Given the description of an element on the screen output the (x, y) to click on. 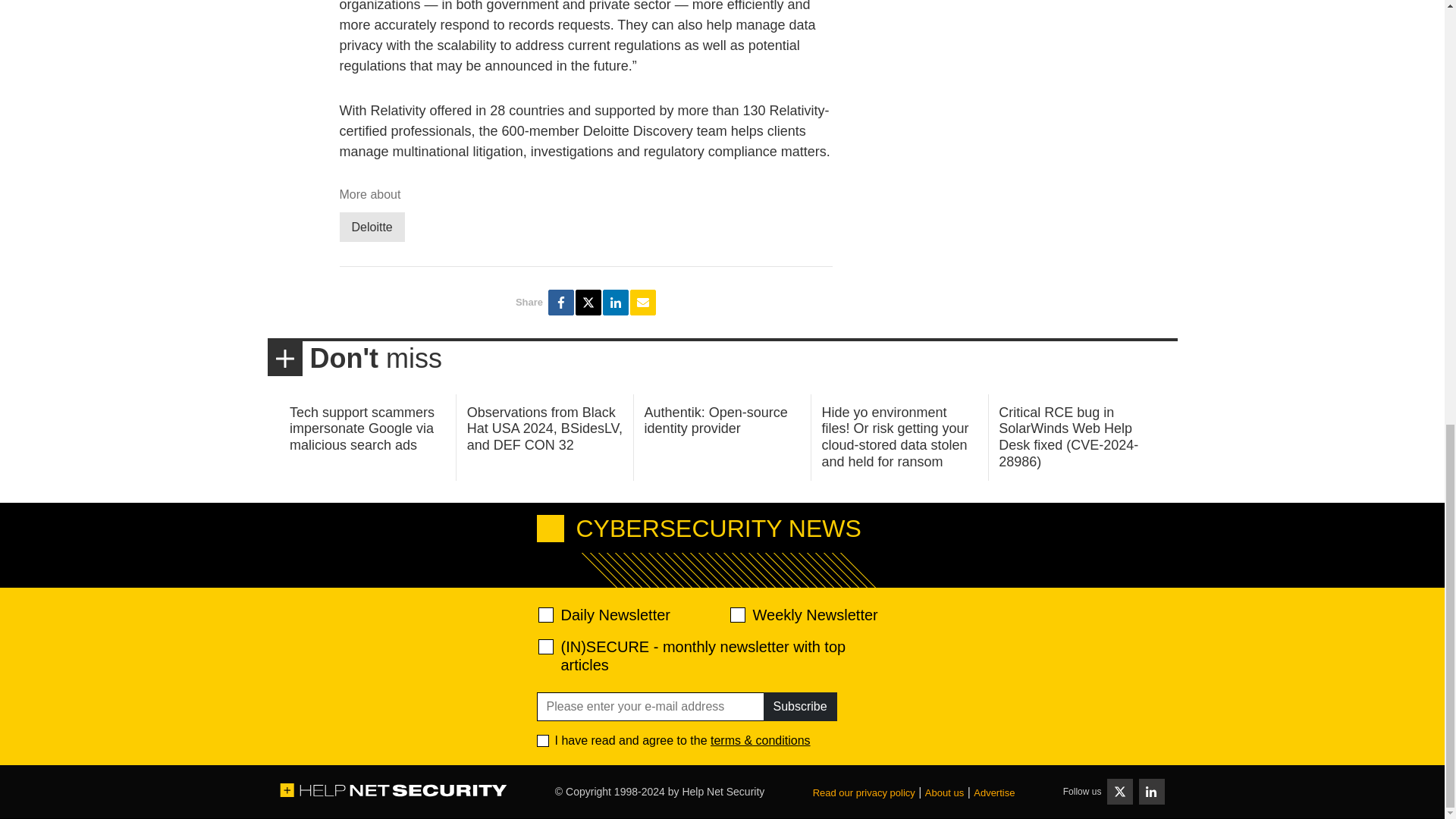
Deloitte (371, 226)
Deloitte (371, 226)
Subscribe (798, 706)
520ac2f639 (545, 614)
d2d471aafa (736, 614)
1 (542, 740)
